Given the description of an element on the screen output the (x, y) to click on. 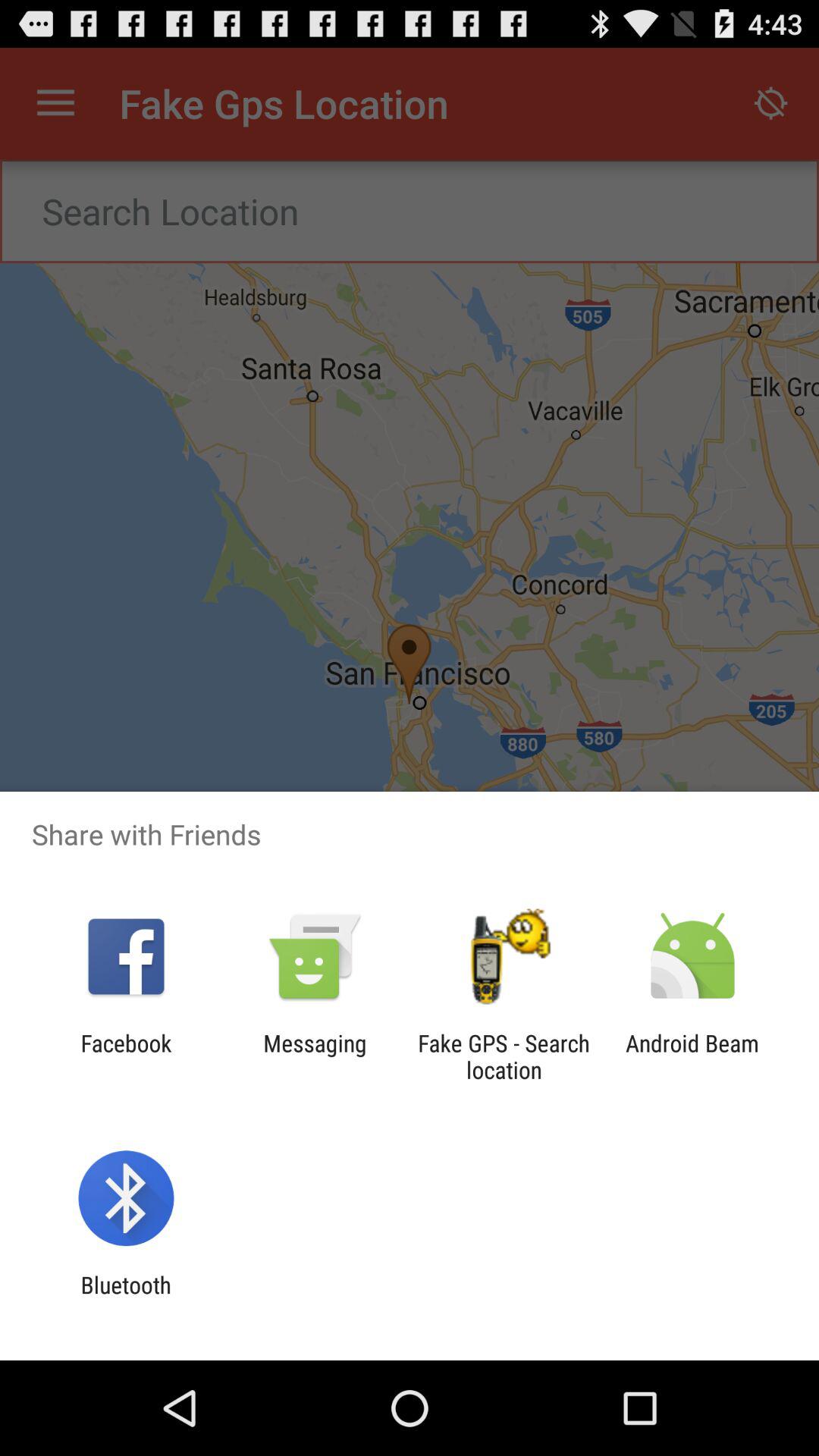
tap item next to messaging app (503, 1056)
